Given the description of an element on the screen output the (x, y) to click on. 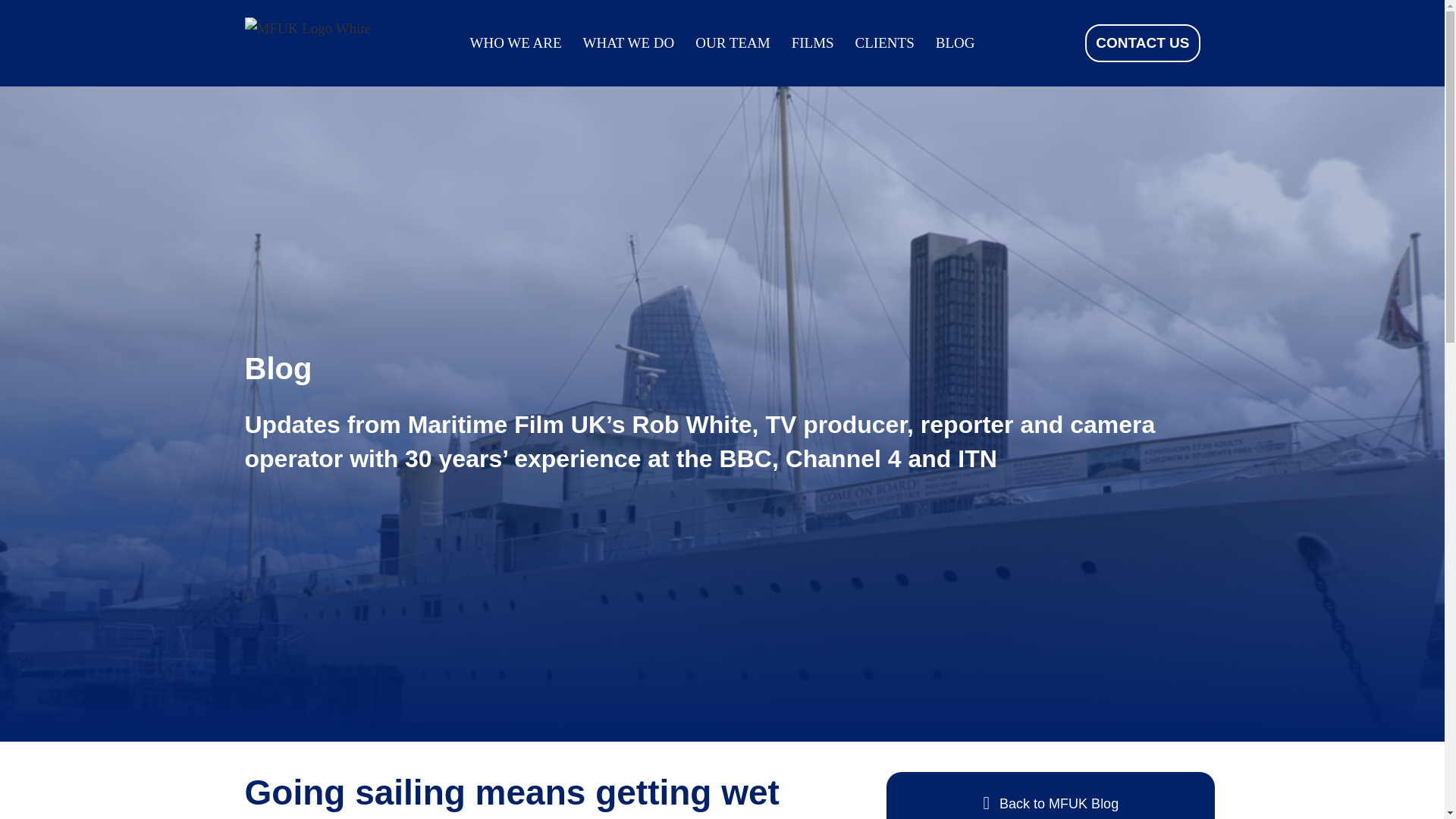
WHO WE ARE (516, 42)
CONTACT US (1141, 43)
Skip to content (11, 31)
Back to MFUK Blog (1050, 795)
OUR TEAM (732, 42)
FILMS (813, 42)
CLIENTS (885, 42)
WHAT WE DO (629, 42)
BLOG (955, 42)
